Given the description of an element on the screen output the (x, y) to click on. 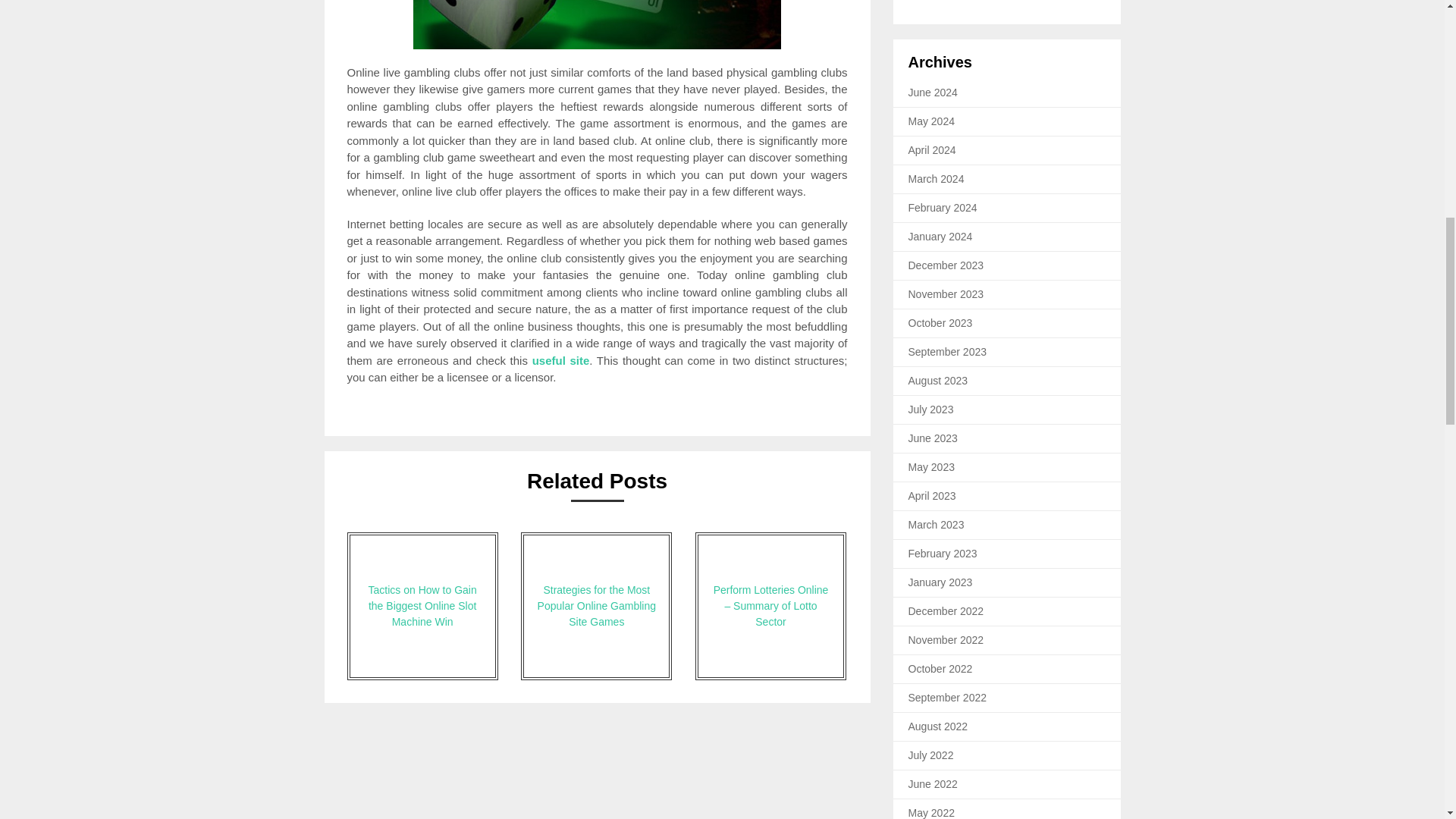
Tactics on How to Gain the Biggest Online Slot Machine Win (422, 606)
May 2023 (931, 467)
March 2024 (935, 178)
February 2023 (942, 553)
December 2023 (946, 265)
September 2023 (947, 351)
April 2023 (932, 495)
Strategies for the Most Popular Online Gambling Site Games (596, 606)
March 2023 (935, 524)
May 2024 (931, 121)
April 2024 (932, 150)
June 2023 (933, 438)
Tactics on How to Gain the Biggest Online Slot Machine Win (422, 606)
November 2022 (946, 639)
Strategies for the Most Popular Online Gambling Site Games (596, 606)
